Given the description of an element on the screen output the (x, y) to click on. 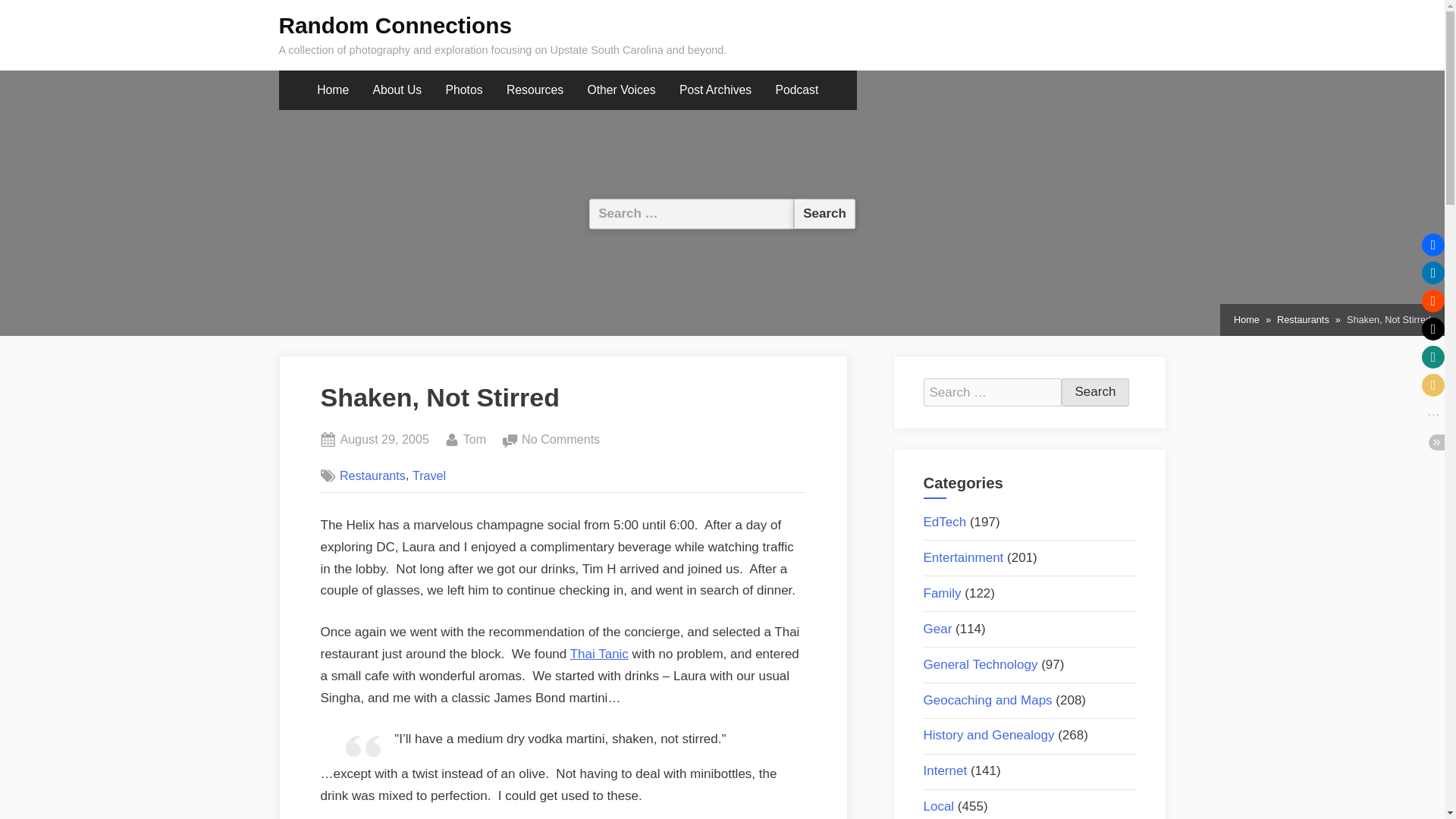
Restaurants (372, 475)
Post Archives (715, 90)
Thai Tanic (599, 653)
Gear (937, 628)
Search (824, 214)
Podcast (797, 90)
Random Connections (395, 25)
Internet (945, 770)
EdTech (944, 522)
Search (824, 214)
Home (1246, 320)
Search (824, 214)
Other Voices (474, 439)
Geocaching and Maps (621, 90)
